Given the description of an element on the screen output the (x, y) to click on. 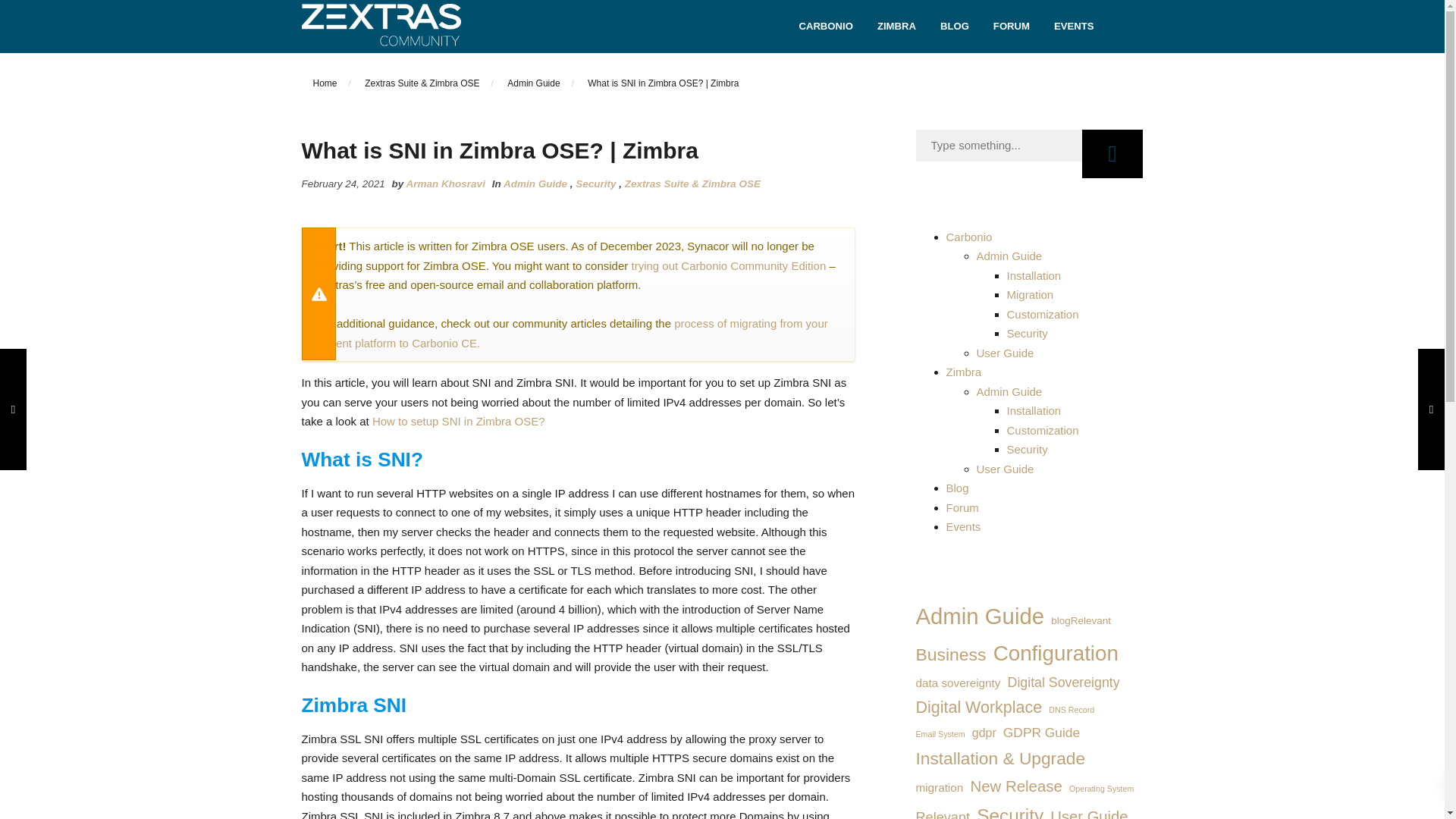
Admin Guide (533, 82)
BLOG (954, 26)
Home (325, 82)
CARBONIO (825, 26)
trying out Carbonio Community Edition (729, 265)
How to setup SNI in Zimbra OSE? (458, 420)
ZIMBRA (896, 26)
FORUM (1011, 26)
Arman Khosravi (445, 183)
